Given the description of an element on the screen output the (x, y) to click on. 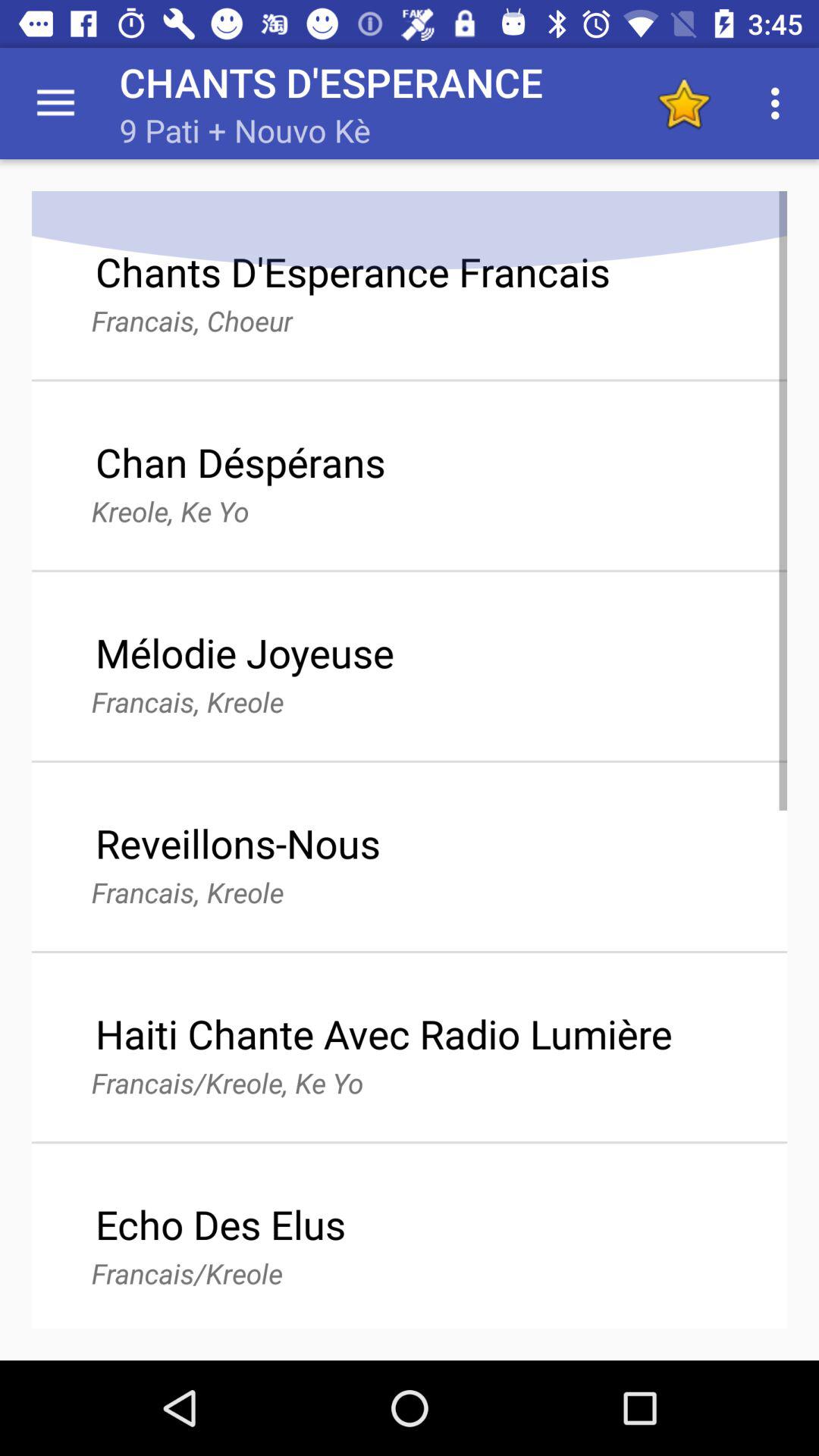
click item above the francais, kreole (237, 842)
